Given the description of an element on the screen output the (x, y) to click on. 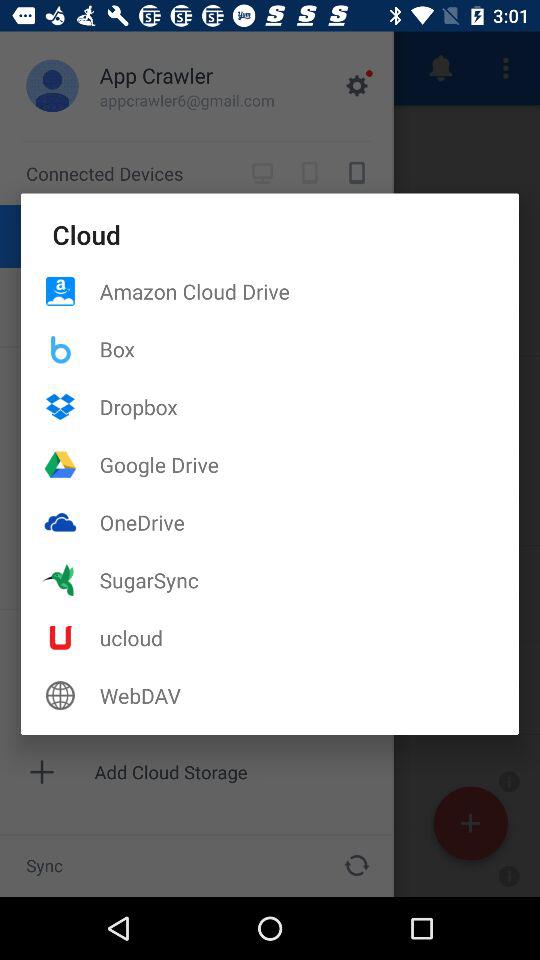
turn off the item above the webdav icon (309, 637)
